Given the description of an element on the screen output the (x, y) to click on. 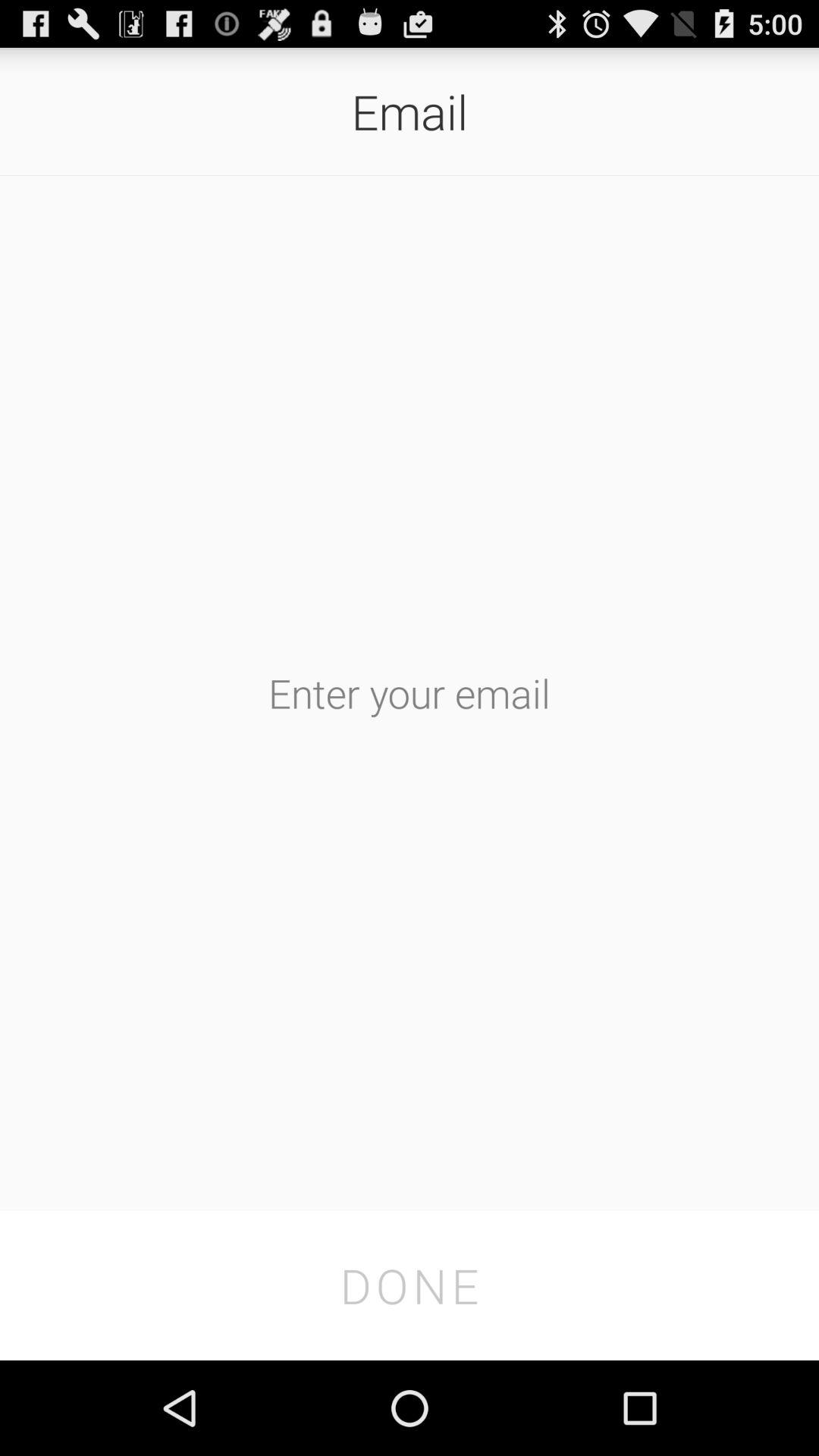
open the item at the bottom (409, 1285)
